Given the description of an element on the screen output the (x, y) to click on. 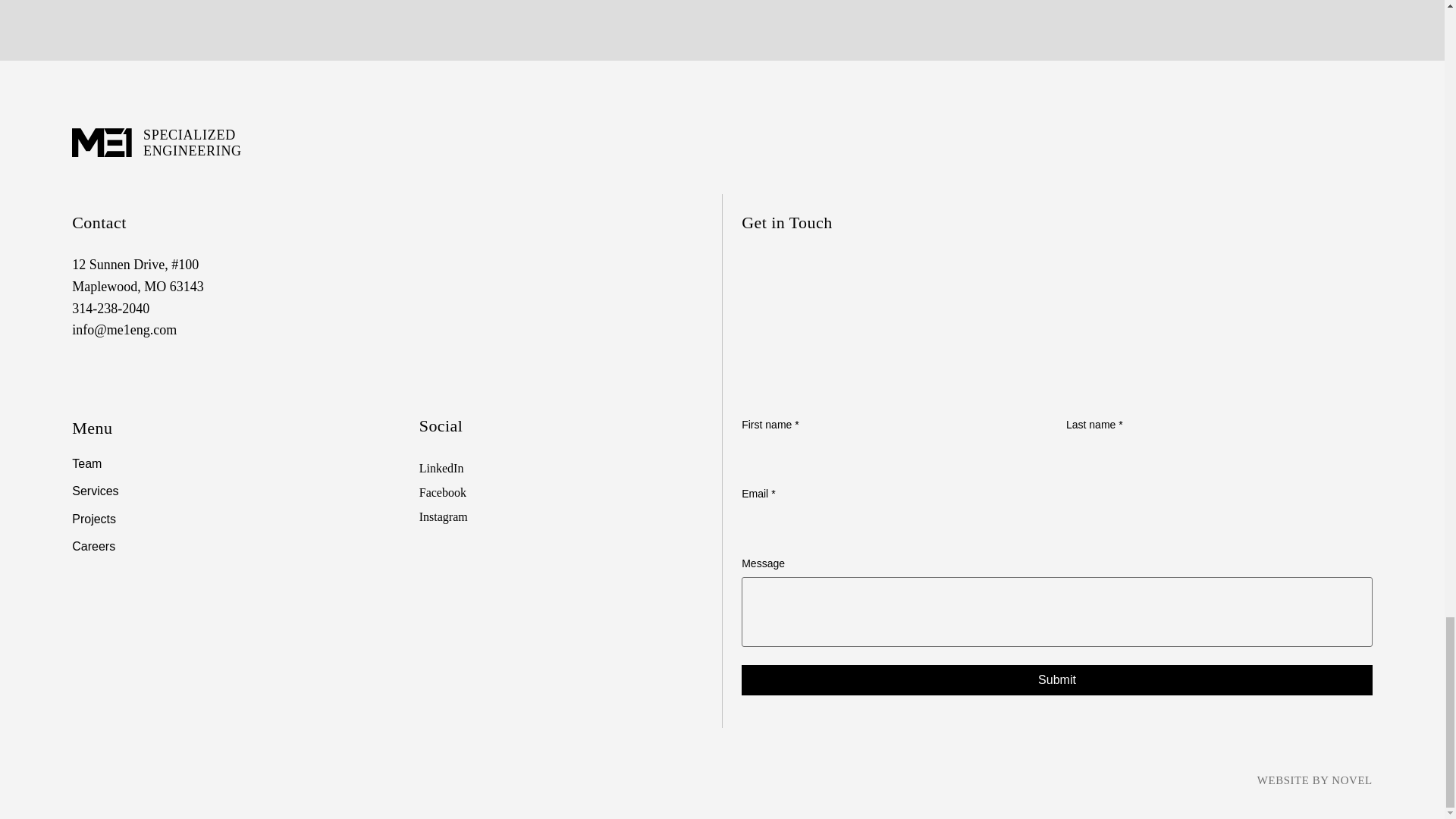
LinkedIn (441, 468)
Facebook (442, 492)
Instagram (443, 516)
Projects (232, 519)
Services (232, 491)
Team (232, 463)
WEBSITE BY NOVEL (1315, 779)
Submit (1057, 680)
Careers (232, 546)
